Given the description of an element on the screen output the (x, y) to click on. 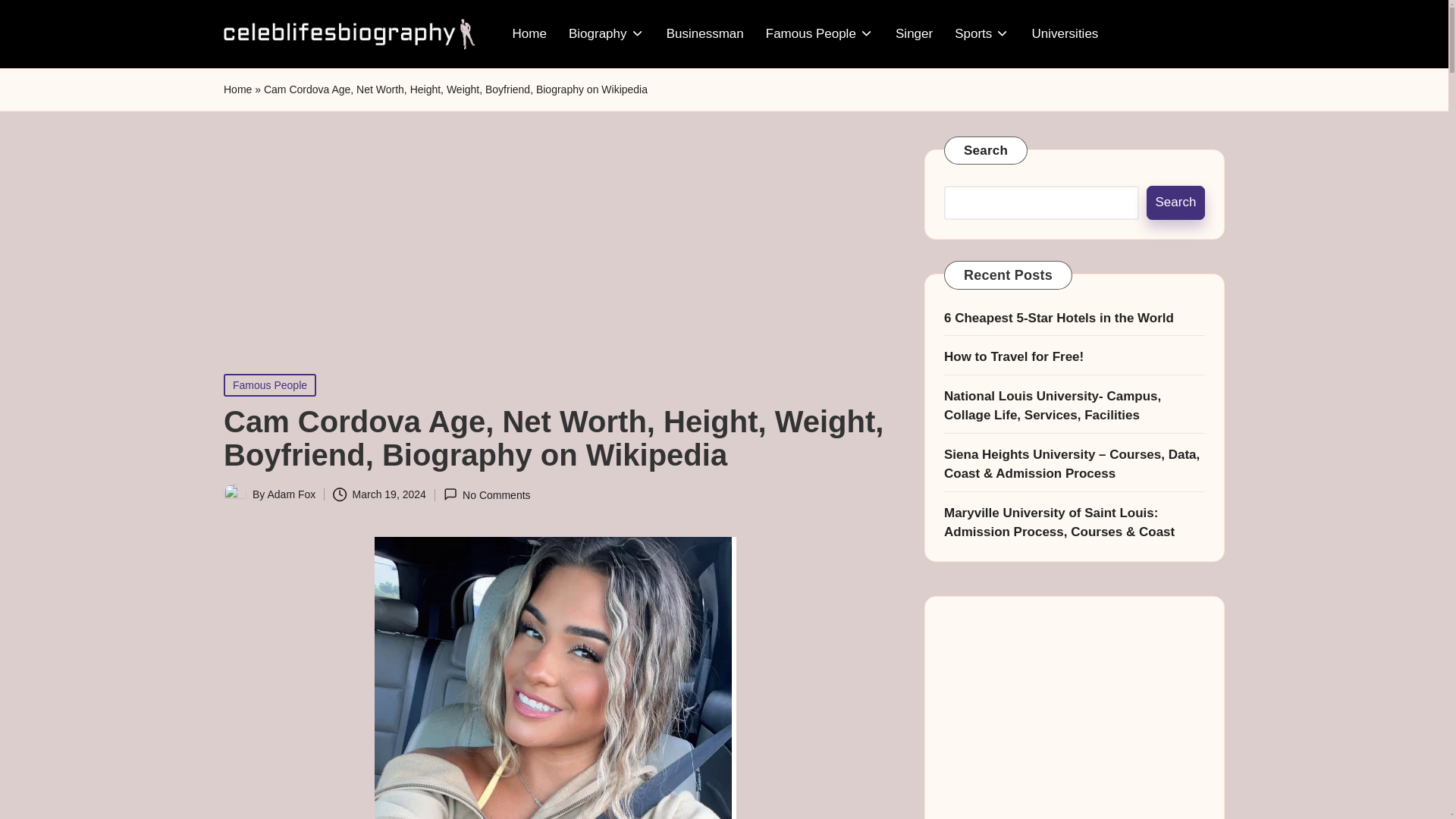
Home (529, 33)
Famous People (819, 33)
Universities (1064, 33)
Home (237, 89)
Businessman (705, 33)
View all posts by Adam Fox (290, 494)
Biography (606, 33)
Sports (981, 33)
Singer (914, 33)
